Given the description of an element on the screen output the (x, y) to click on. 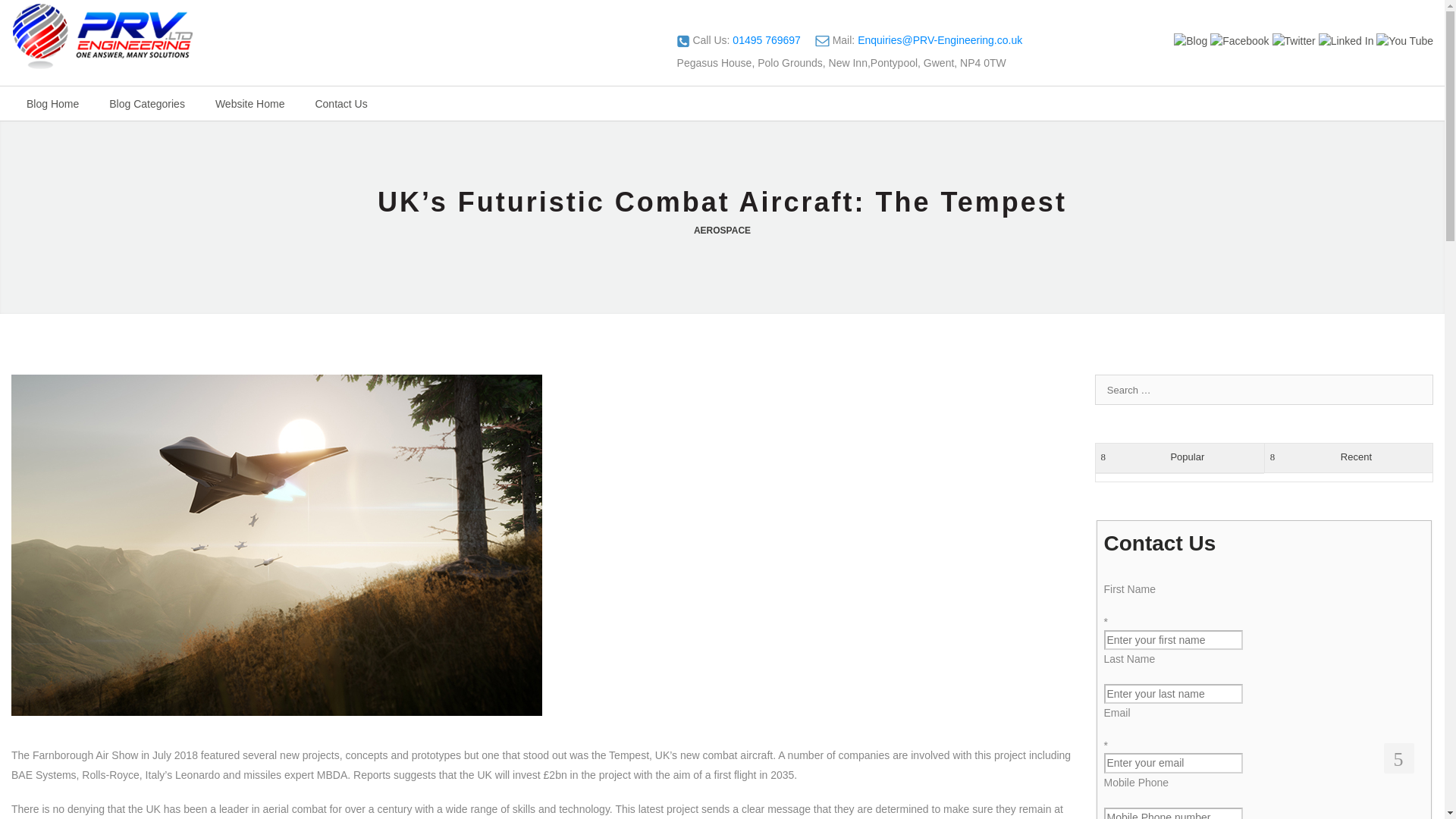
01495 769697 (766, 39)
Popular (1179, 457)
AEROSPACE (722, 230)
Recent (1347, 457)
Website Home (250, 103)
Contact Us (340, 103)
Blog Categories (146, 103)
Search (22, 9)
Blog Home (52, 103)
